Given the description of an element on the screen output the (x, y) to click on. 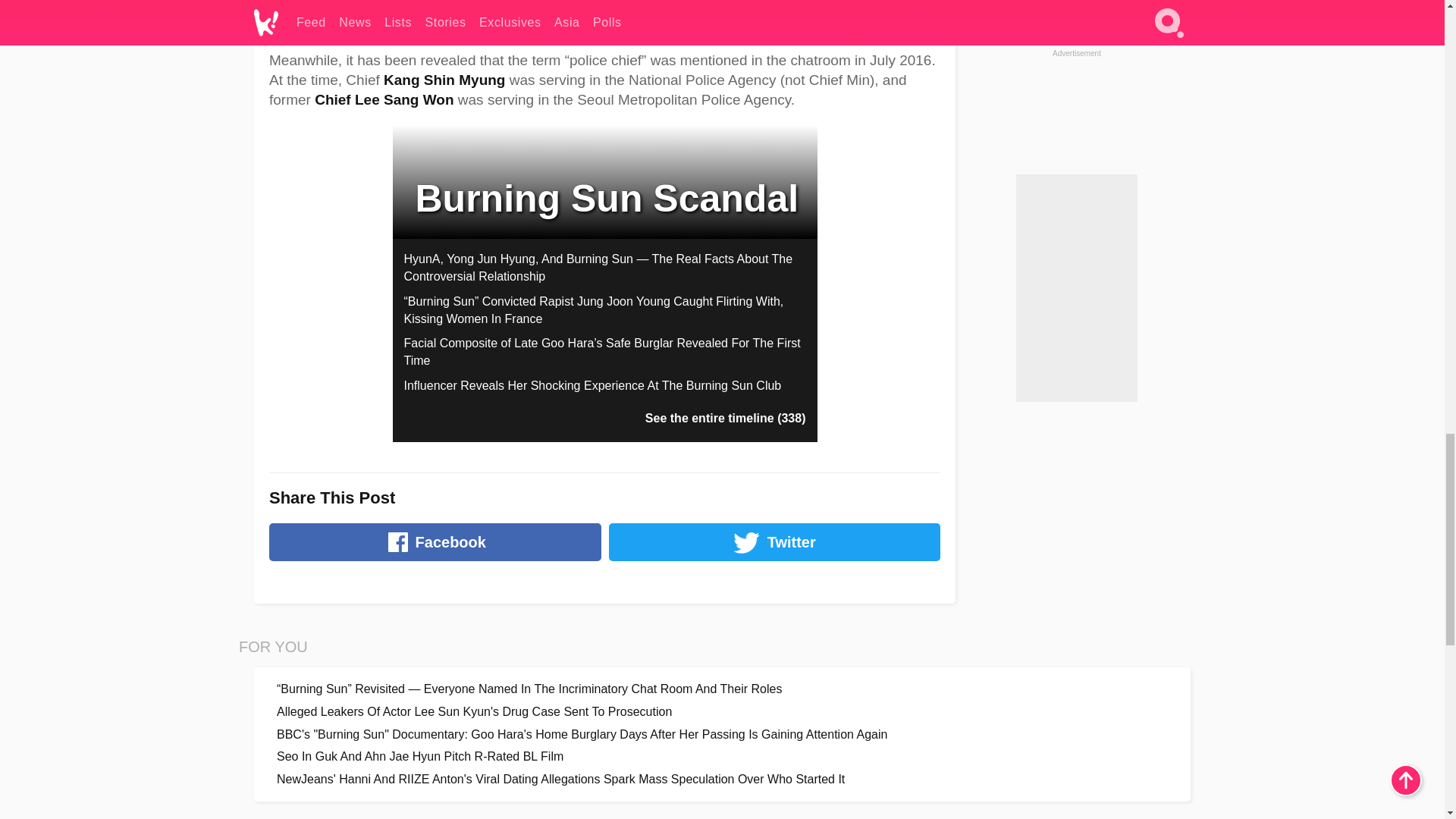
Seo In Guk And Ahn Jae Hyun Pitch R-Rated BL Film (721, 756)
